Given the description of an element on the screen output the (x, y) to click on. 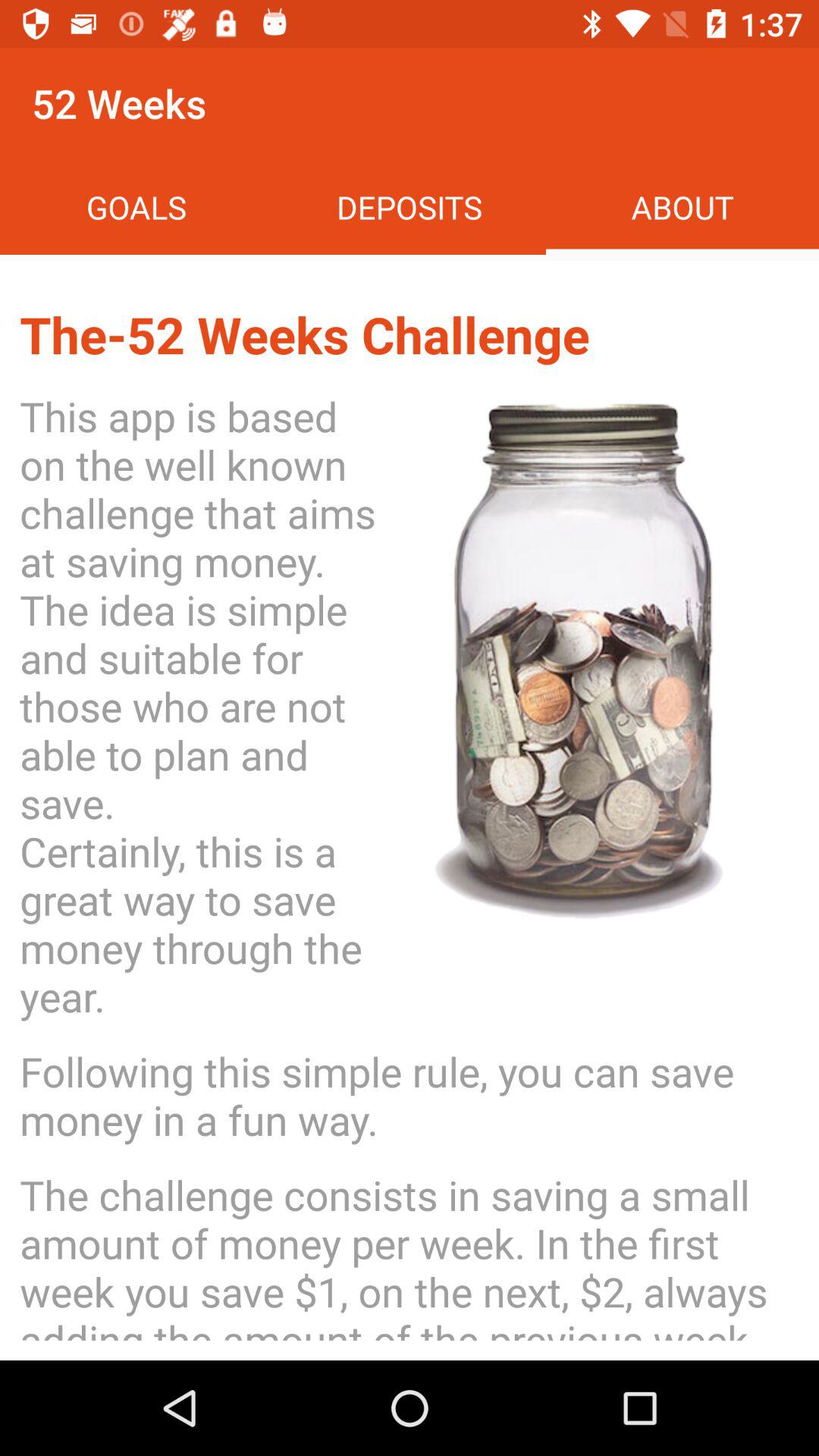
jump to the goals item (136, 206)
